Given the description of an element on the screen output the (x, y) to click on. 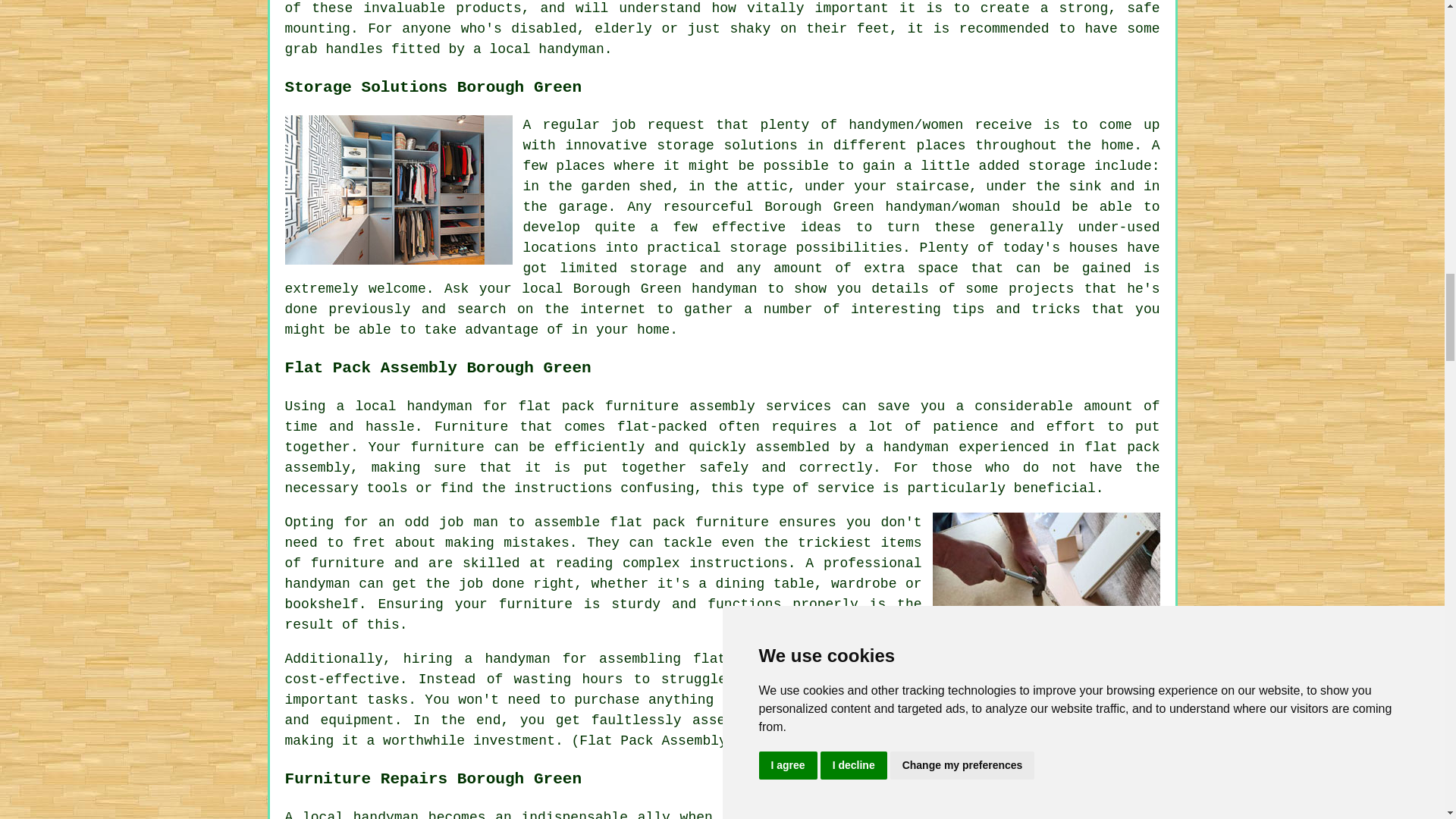
Handyman Flat Pack Assembly Borough Green (1046, 586)
handyman (439, 406)
handyman (517, 658)
Handyman Storage Solutions Borough Green Kent (398, 189)
flat pack (647, 522)
